Given the description of an element on the screen output the (x, y) to click on. 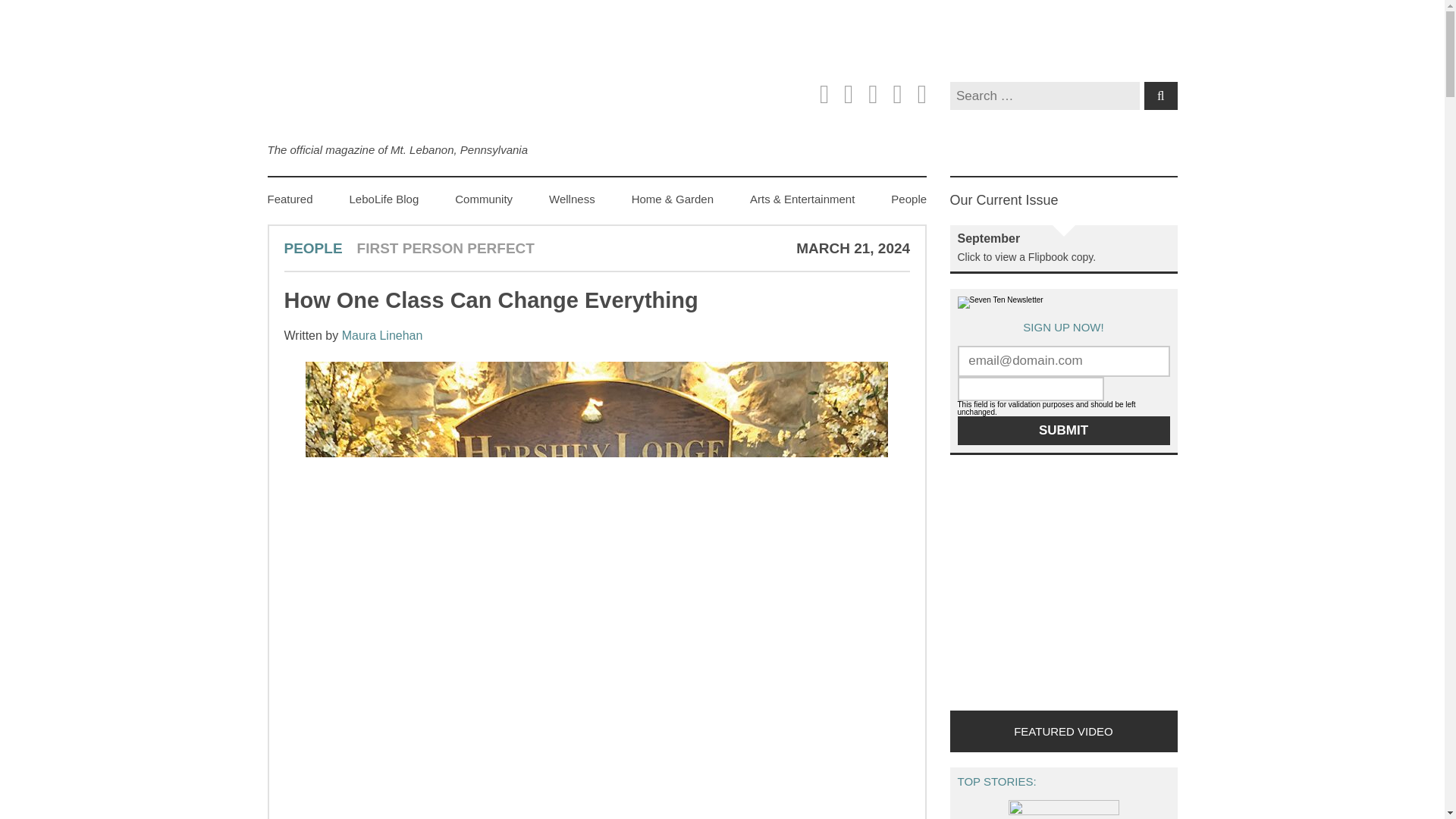
YouTube video player (1161, 589)
Search for: (1043, 95)
Submit (1062, 430)
